Given the description of an element on the screen output the (x, y) to click on. 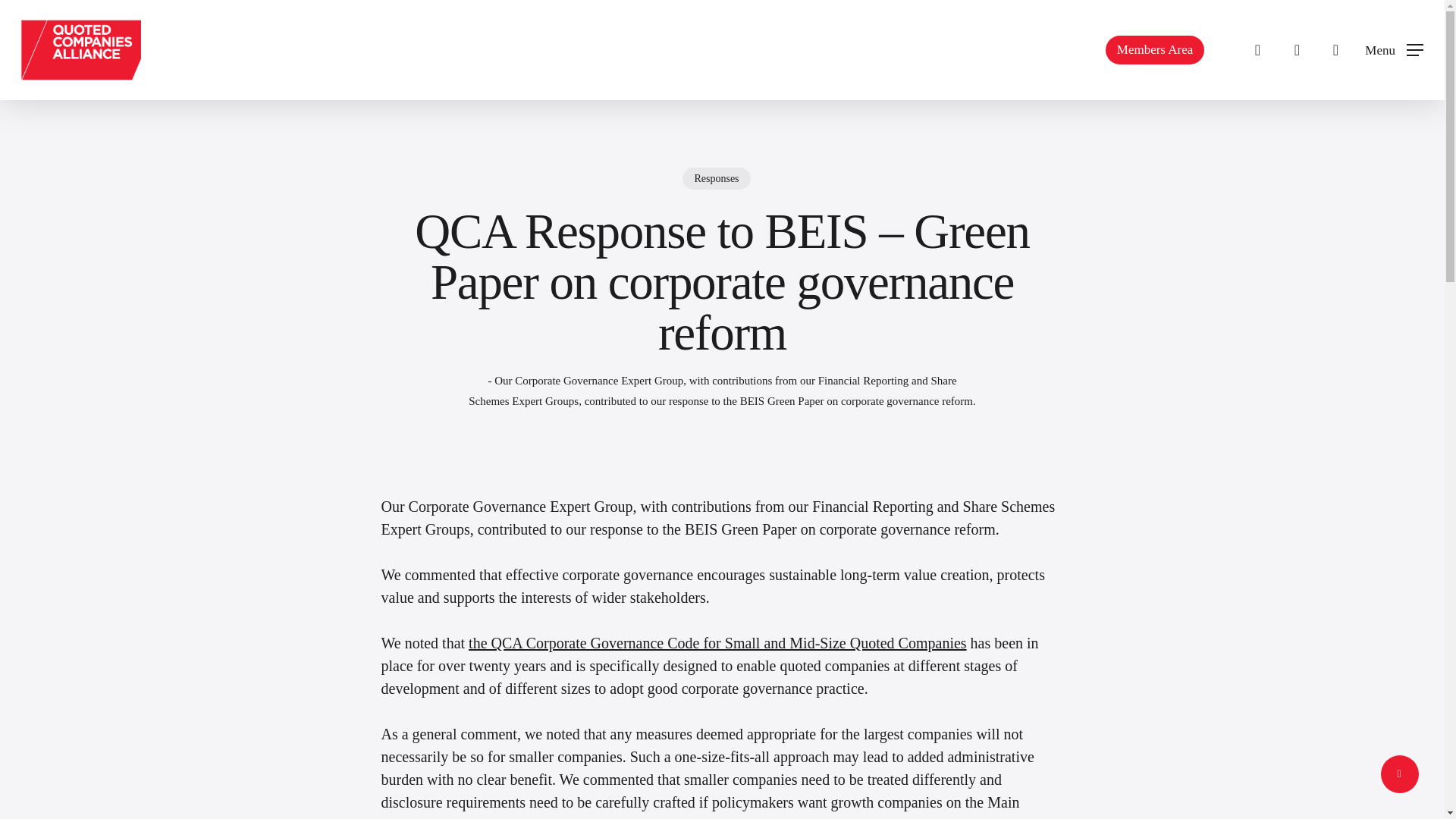
account (1296, 50)
Members Area (1155, 49)
search (1256, 50)
Responses (715, 188)
Menu (1394, 50)
